Given the description of an element on the screen output the (x, y) to click on. 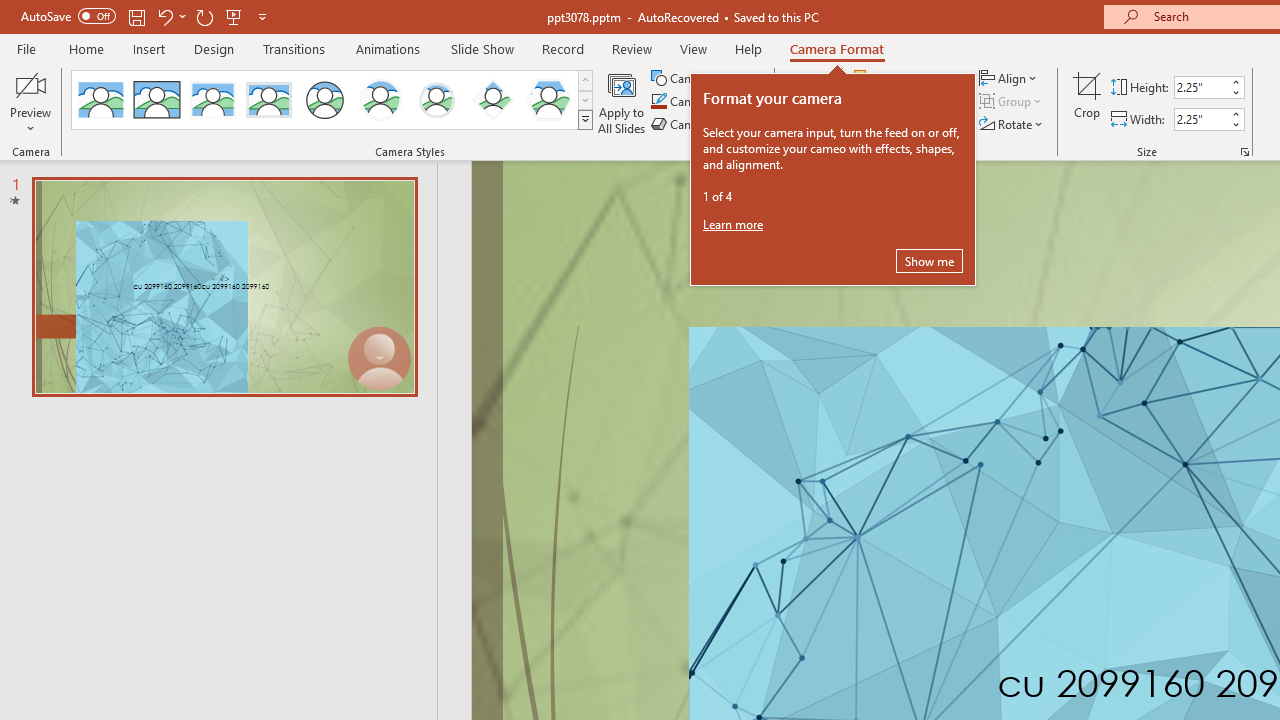
No Style (100, 100)
Camera Shape (705, 78)
Rotate (1012, 124)
Center Shadow Hexagon (548, 100)
Send Backward (913, 101)
Camera Effects (706, 124)
Camera Styles (585, 120)
